Given the description of an element on the screen output the (x, y) to click on. 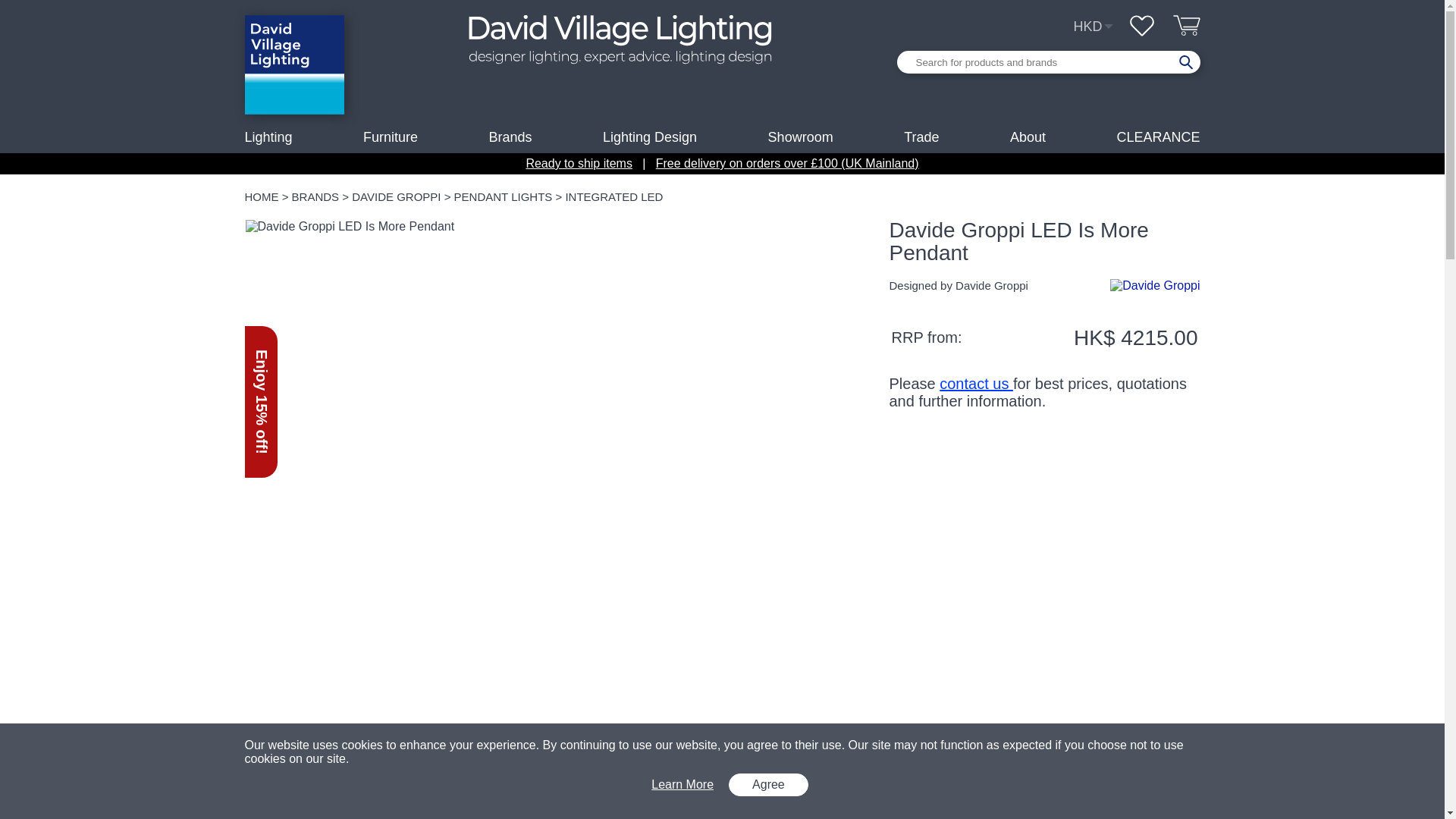
Davide Groppi (1154, 286)
Lighting (268, 136)
Furniture (389, 136)
